Given the description of an element on the screen output the (x, y) to click on. 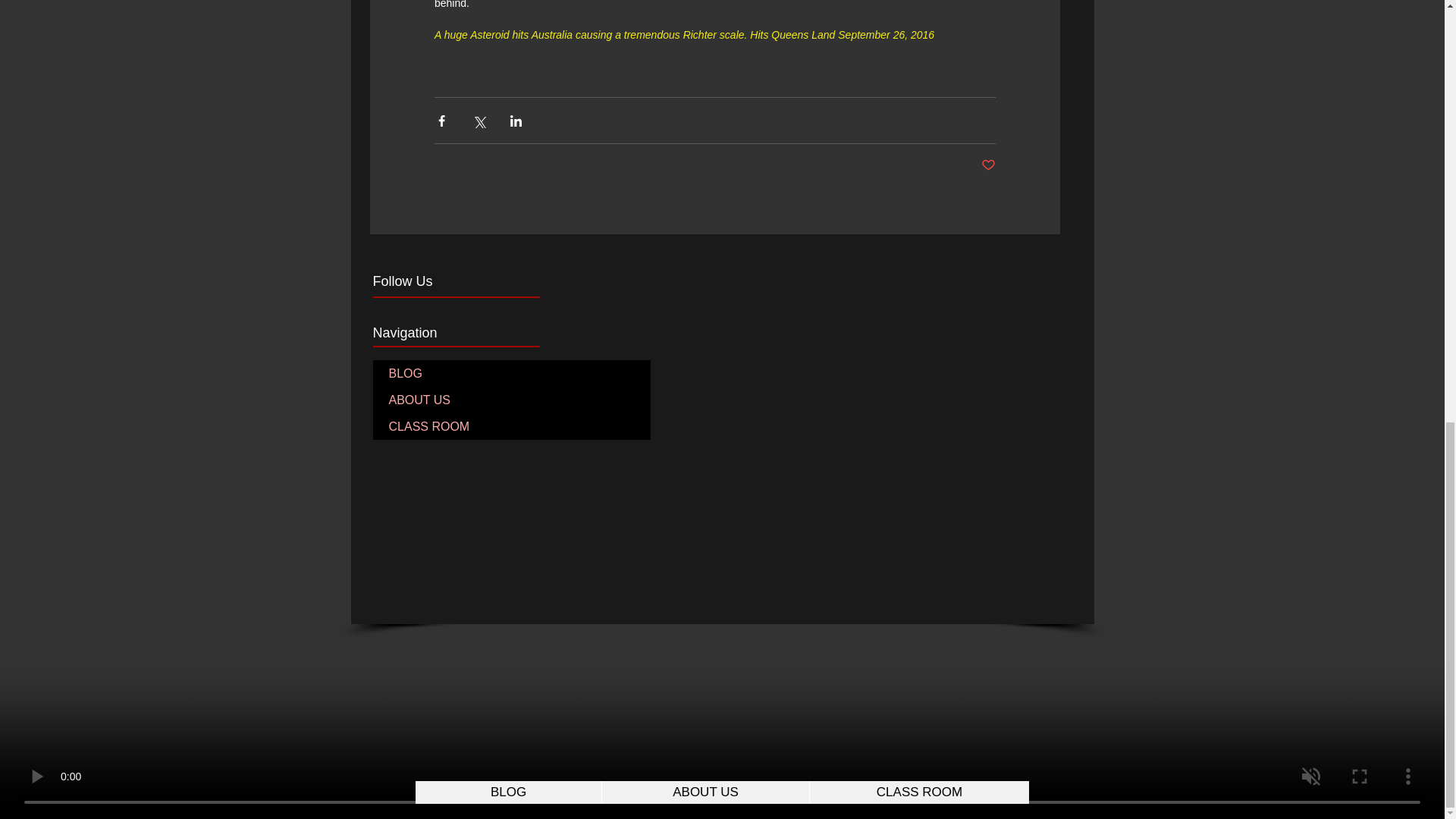
CLASS ROOM (511, 426)
BLOG (511, 373)
ABOUT US (511, 399)
Post not marked as liked (988, 165)
